Given the description of an element on the screen output the (x, y) to click on. 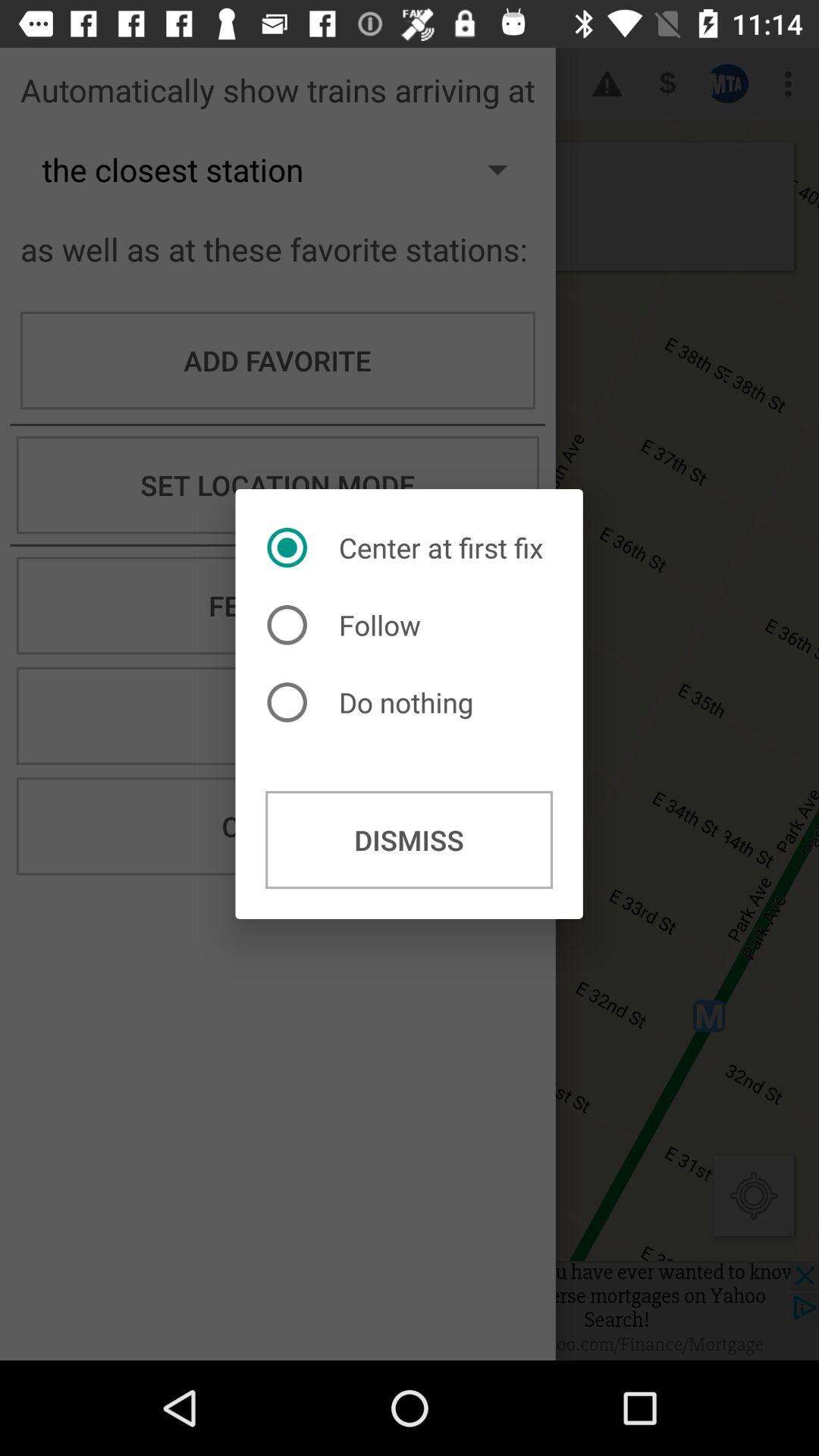
jump to the dismiss (408, 839)
